Given the description of an element on the screen output the (x, y) to click on. 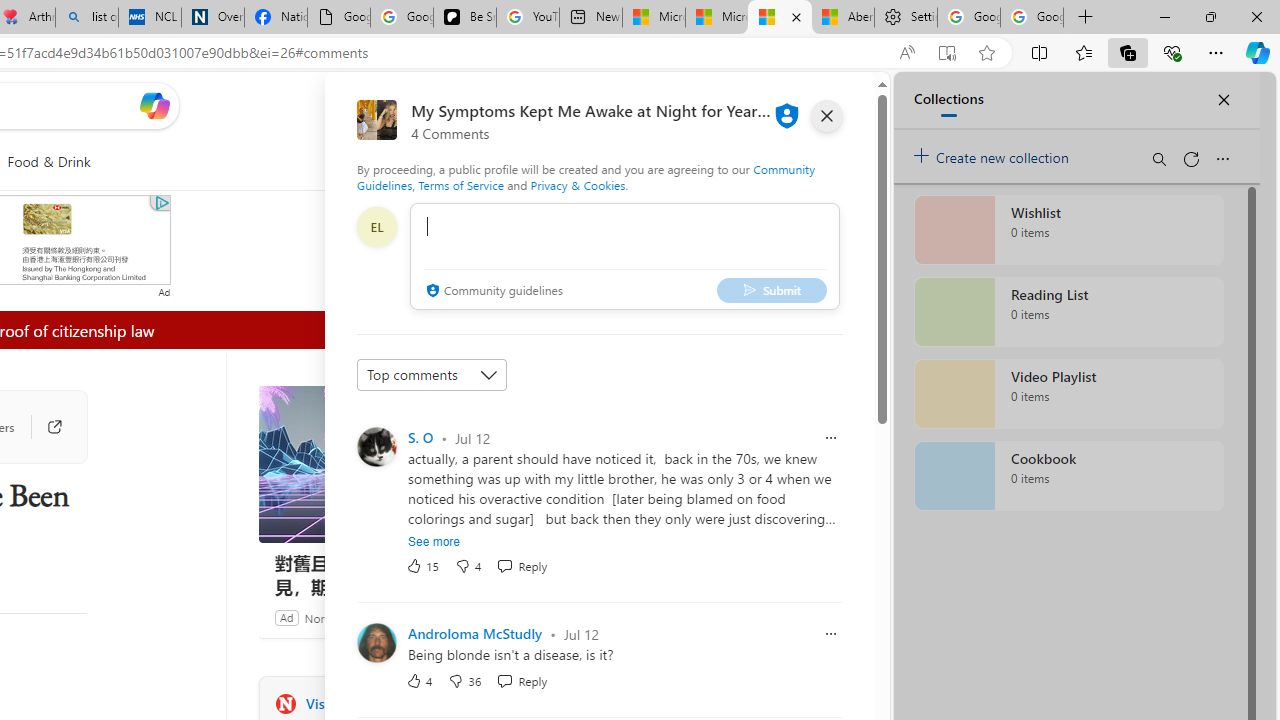
Community guidelines (492, 291)
Class: qc-adchoices-link top-right  (160, 202)
Community Guidelines (586, 176)
comment-box (624, 256)
